Given the description of an element on the screen output the (x, y) to click on. 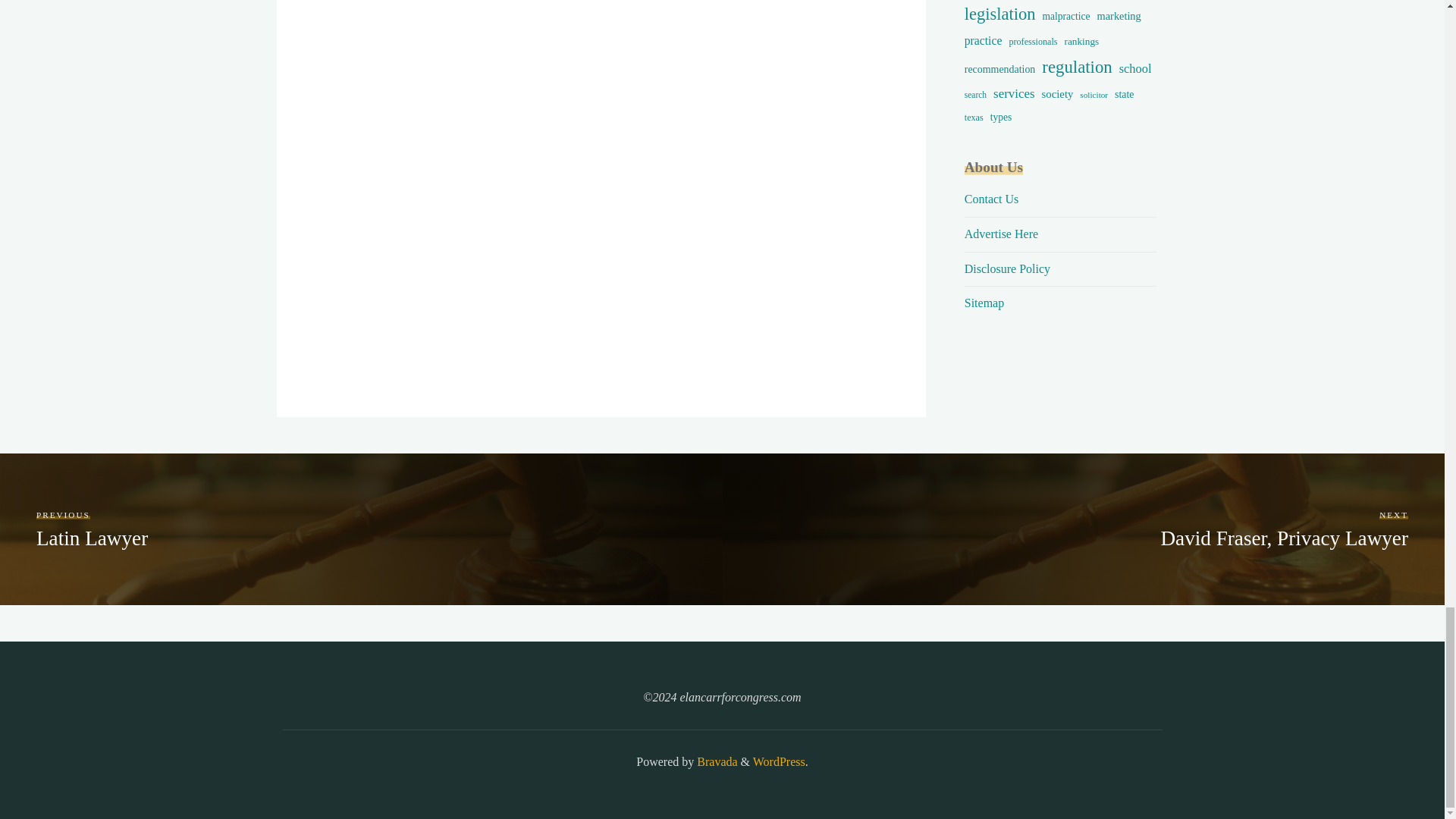
Semantic Personal Publishing Platform (778, 761)
Bravada WordPress Theme by Cryout Creations (715, 761)
